Given the description of an element on the screen output the (x, y) to click on. 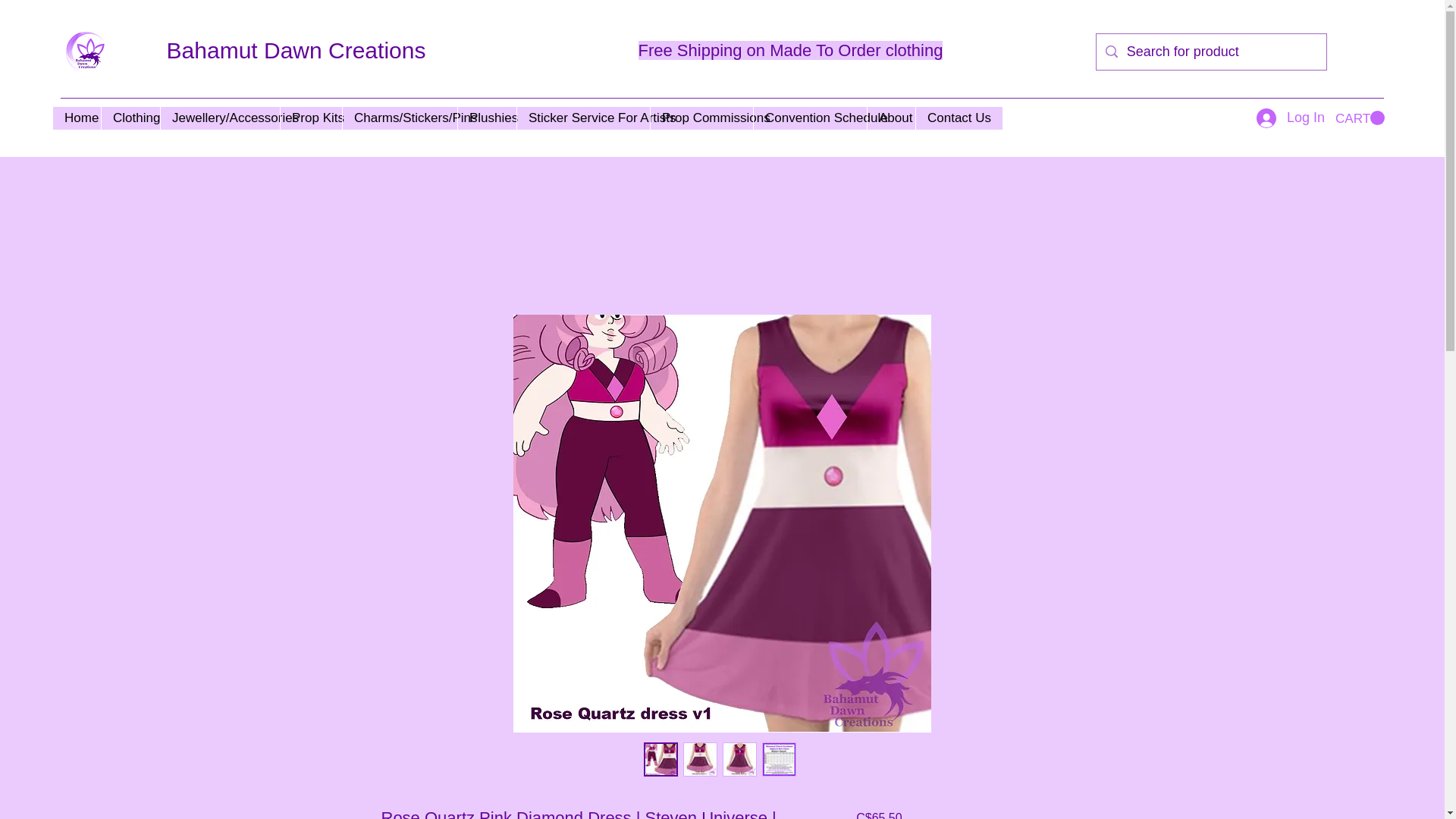
Free Shipping on Made To Order clothing (791, 49)
Home (76, 118)
Prop Kits (310, 118)
Plushies (486, 118)
Contact Us (950, 118)
Clothing (130, 118)
About (890, 118)
Convention Schedule (809, 118)
Prop Commissions (700, 118)
Bahamut Dawn Creations (296, 50)
CART (1359, 118)
Sticker Service For Artists (582, 118)
Log In (1290, 118)
